Given the description of an element on the screen output the (x, y) to click on. 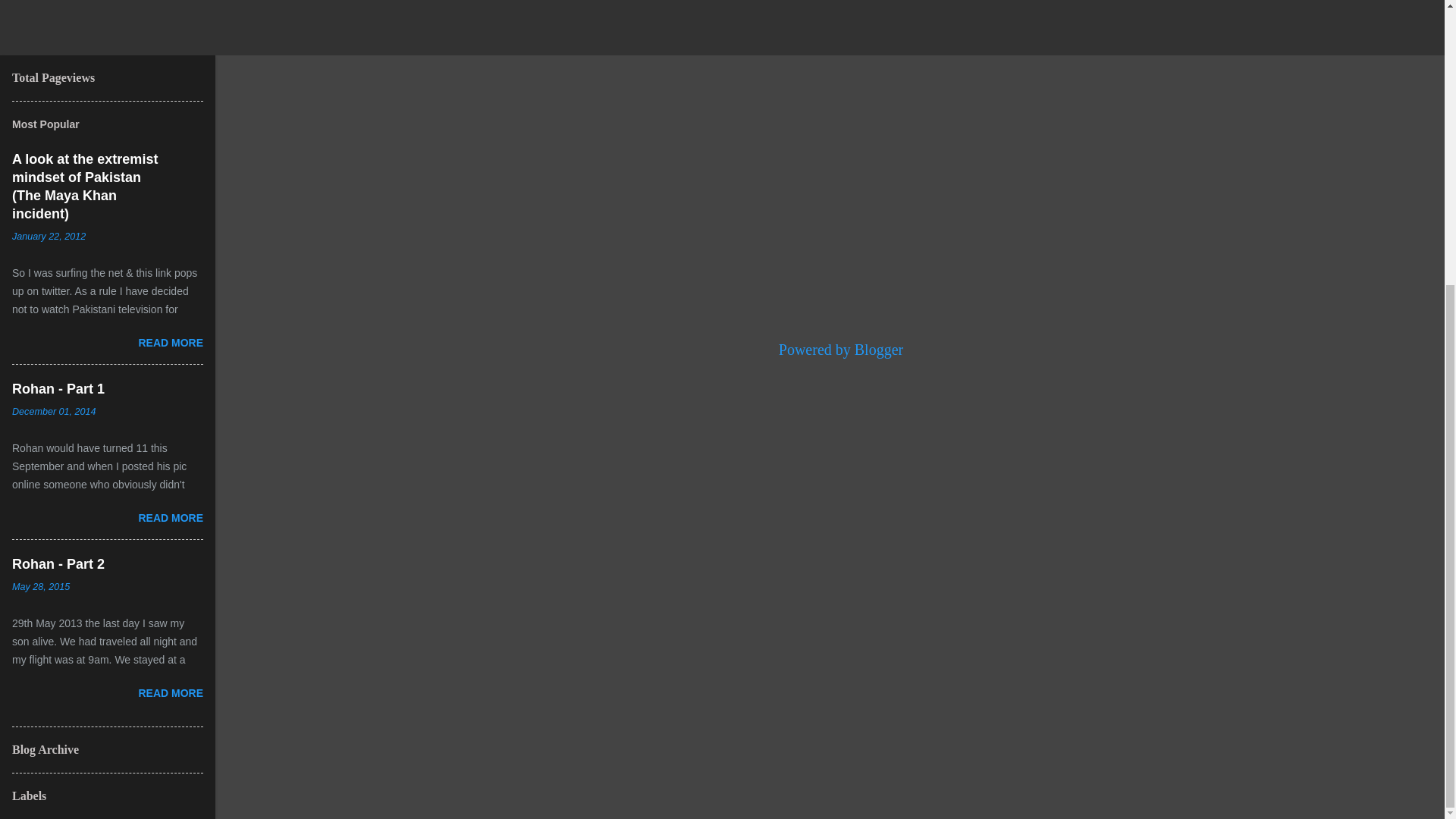
permanent link (40, 586)
permanent link (48, 235)
Rohan - Part 1 (57, 388)
READ MORE (170, 517)
Rohan - Part 1 (170, 517)
READ MORE (170, 693)
permanent link (53, 411)
Powered by Blogger (829, 349)
READ MORE (170, 342)
January 22, 2012 (48, 235)
